Given the description of an element on the screen output the (x, y) to click on. 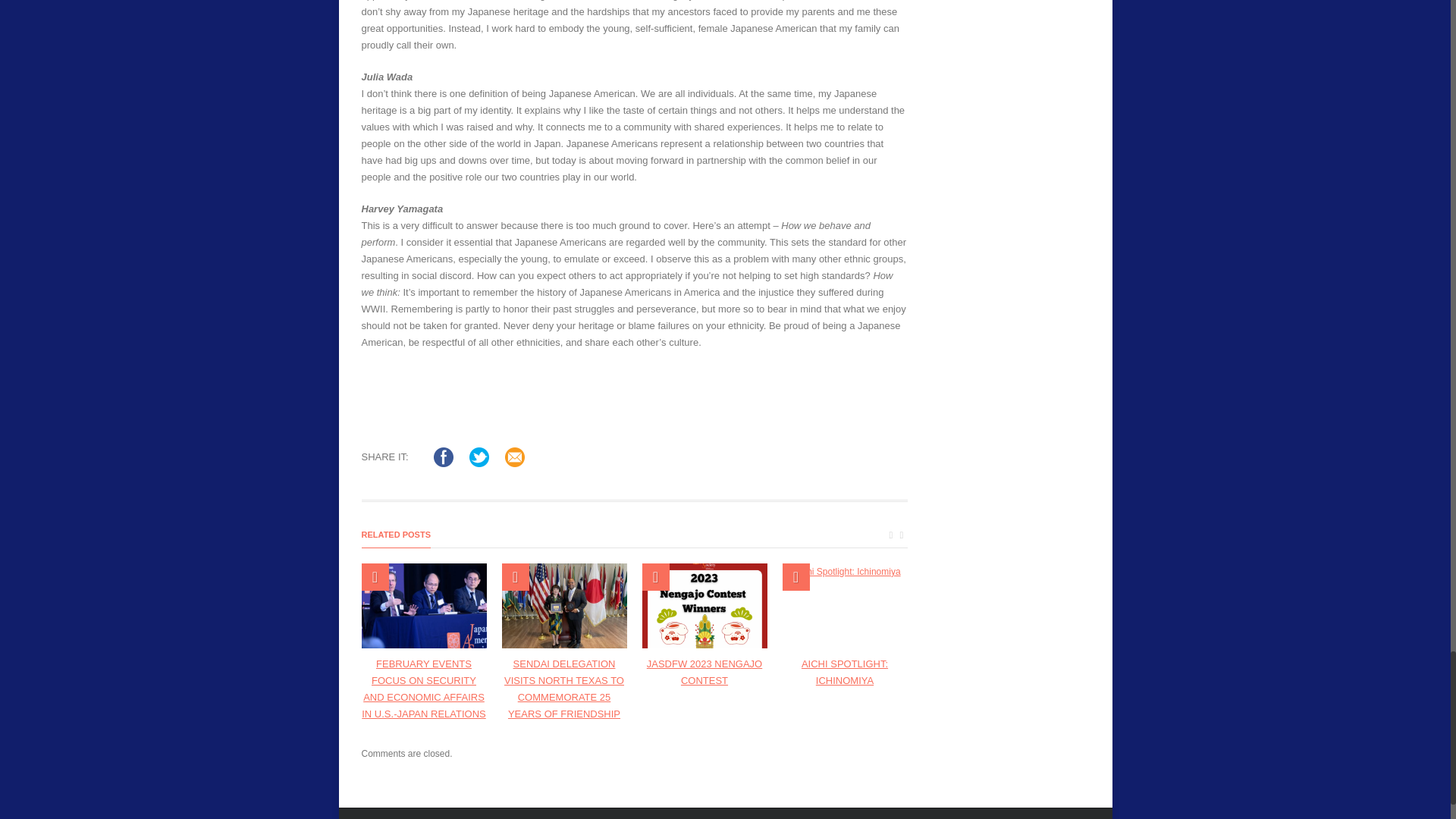
Email this Post (514, 457)
Tweet on Twitter (479, 457)
JASDFW 2023 Nengajo Contest (704, 605)
Share on Facebook (442, 457)
Aichi Spotlight: Ichinomiya (845, 605)
